Given the description of an element on the screen output the (x, y) to click on. 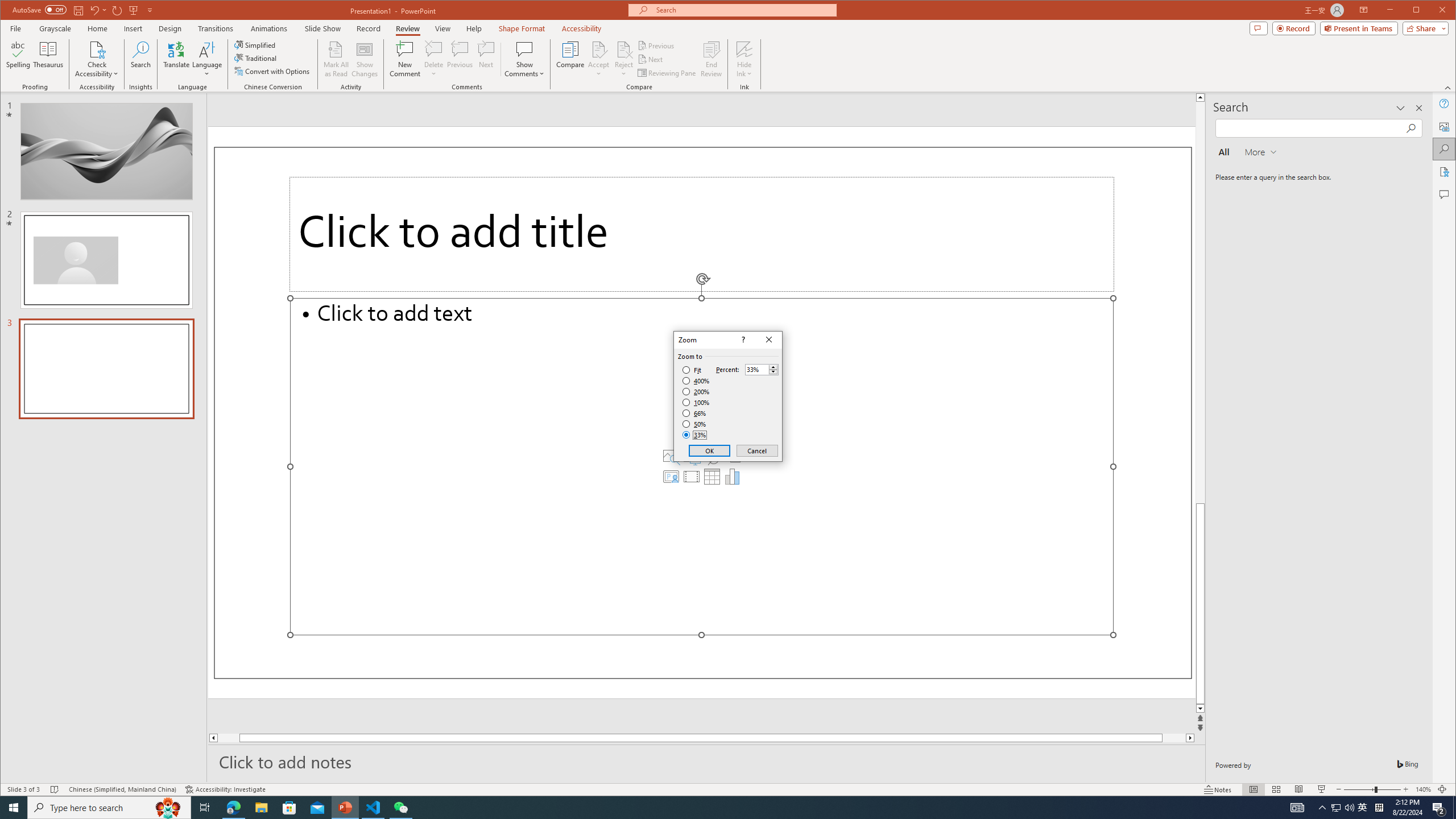
Accept (598, 59)
Traditional (256, 57)
OK (709, 450)
100% (696, 402)
66% (694, 412)
Compare (569, 59)
